Given the description of an element on the screen output the (x, y) to click on. 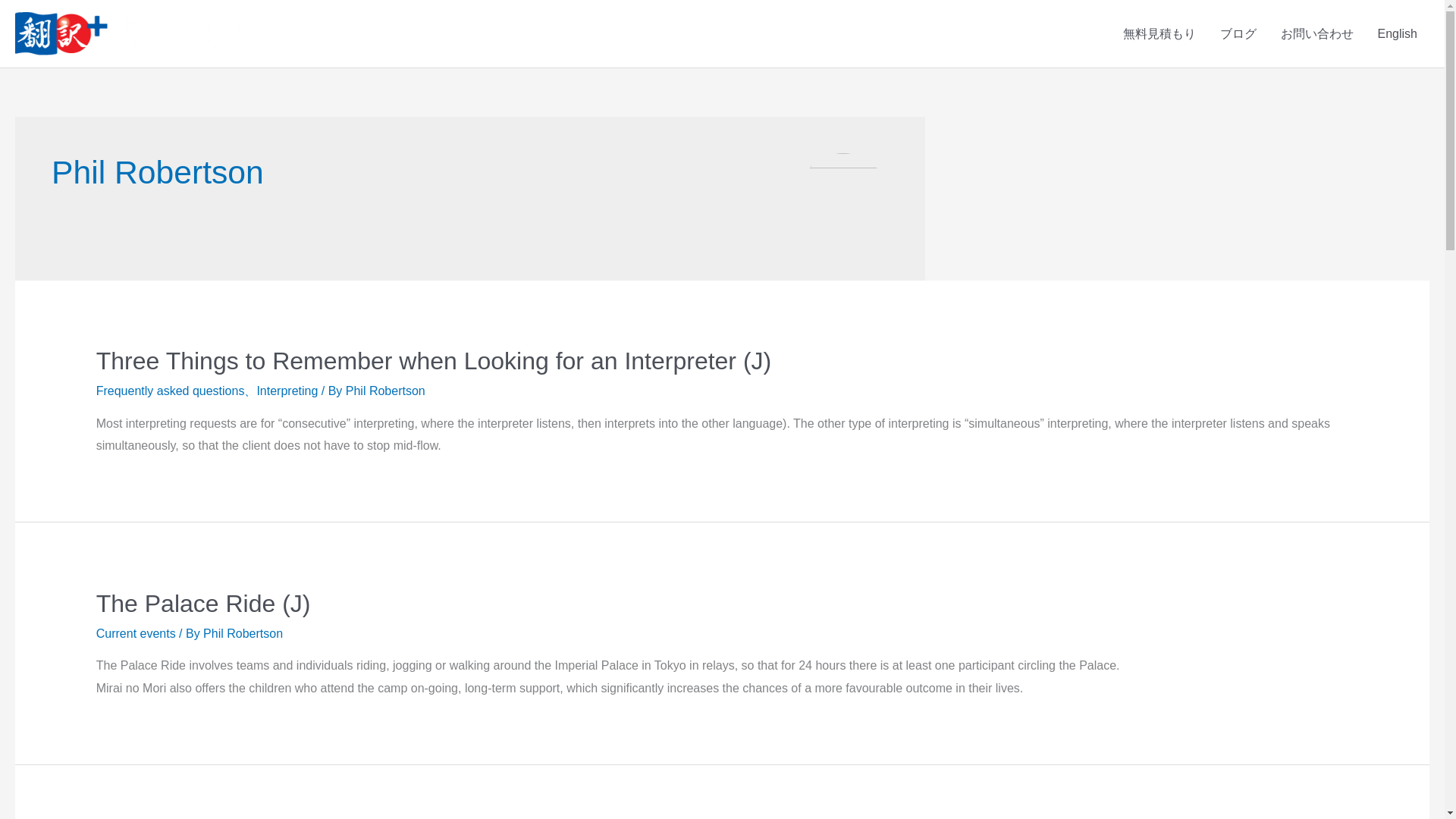
Current events (136, 633)
English (1397, 33)
Phil Robertson (385, 390)
Interpreting (286, 390)
Phil Robertson (242, 633)
Frequently asked questions (170, 390)
